Given the description of an element on the screen output the (x, y) to click on. 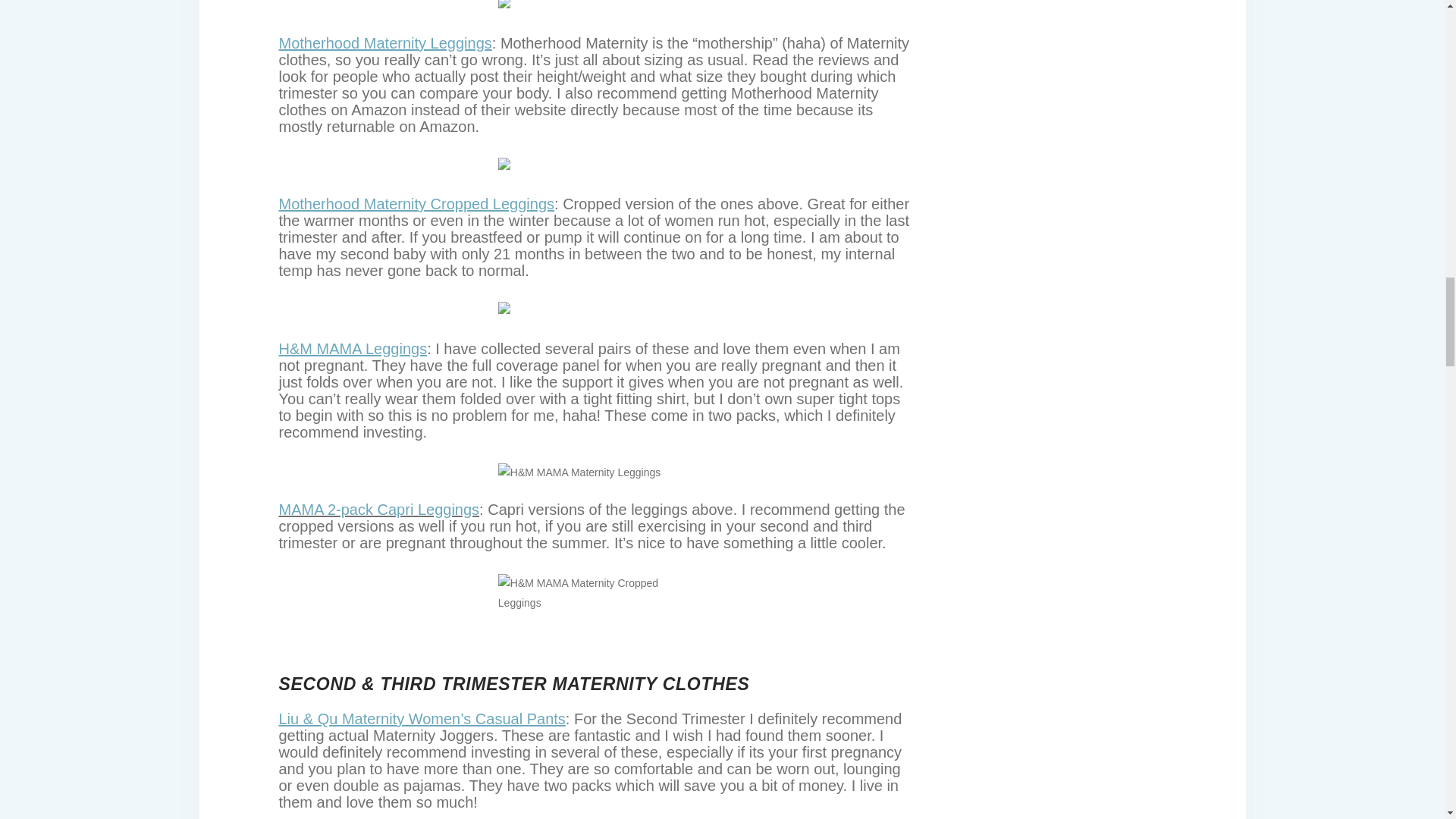
Motherhood Maternity Cropped Leggings (416, 203)
Motherhood Maternity Leggings (385, 43)
MAMA 2-pack Capri Leggings (379, 509)
